Given the description of an element on the screen output the (x, y) to click on. 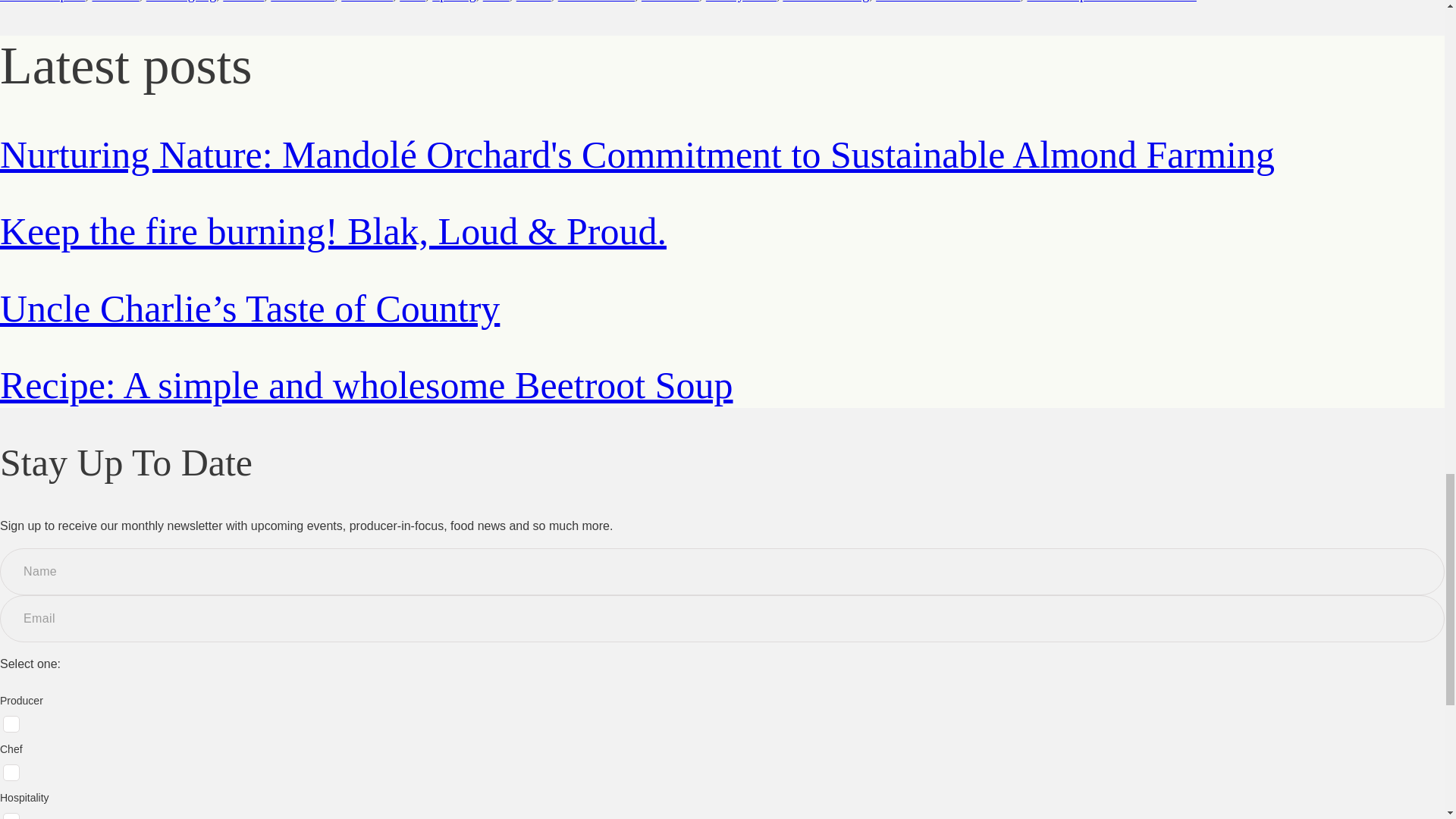
on (11, 816)
Delicious Produce Awards (948, 1)
Award Winning (826, 1)
PorkStar (114, 1)
Suckling Pig (181, 1)
Porchetta (366, 1)
Wholesale (670, 1)
on (11, 772)
Australian pork (42, 1)
on (11, 723)
